Given the description of an element on the screen output the (x, y) to click on. 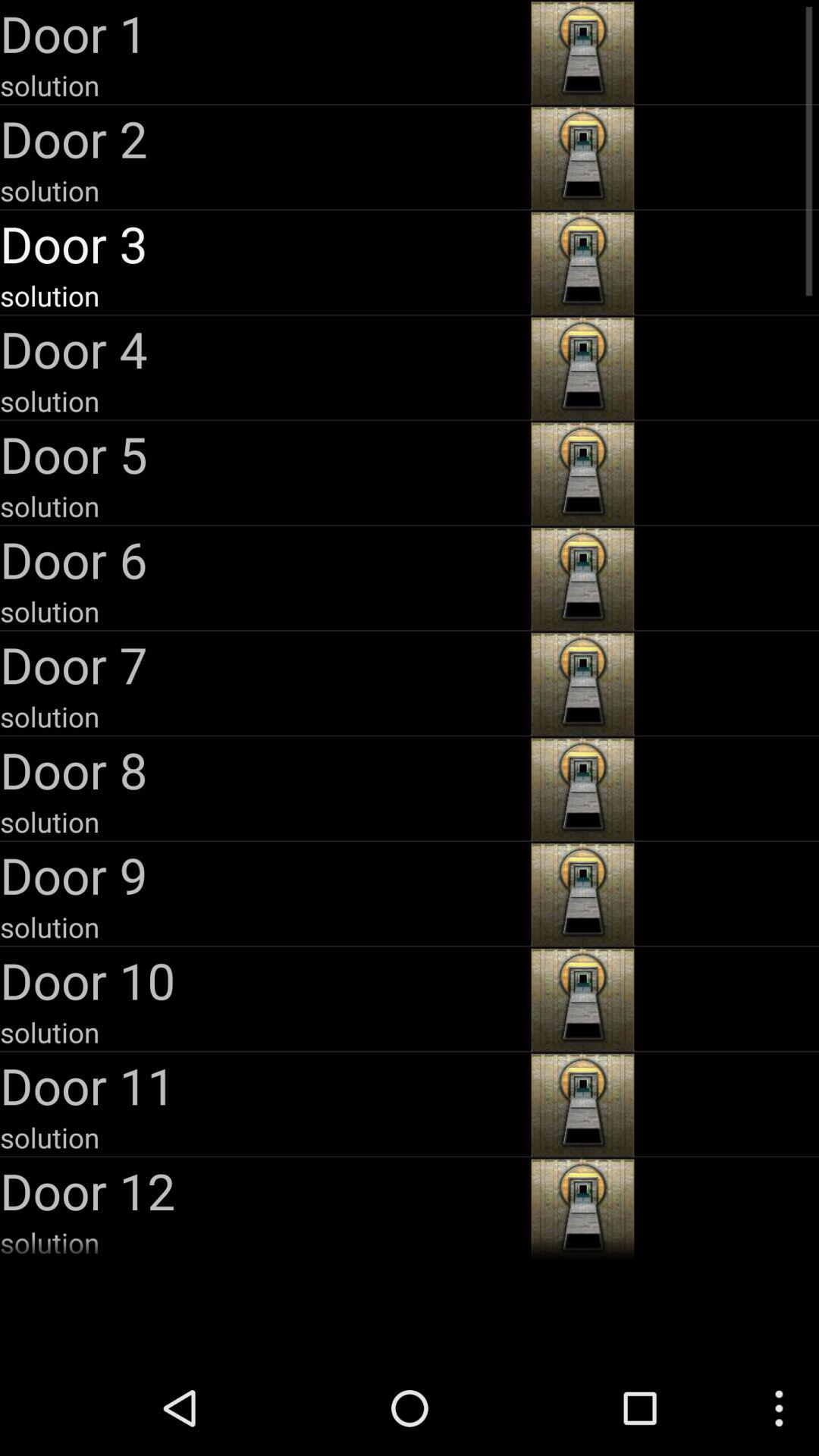
flip until the door 4 (263, 348)
